Given the description of an element on the screen output the (x, y) to click on. 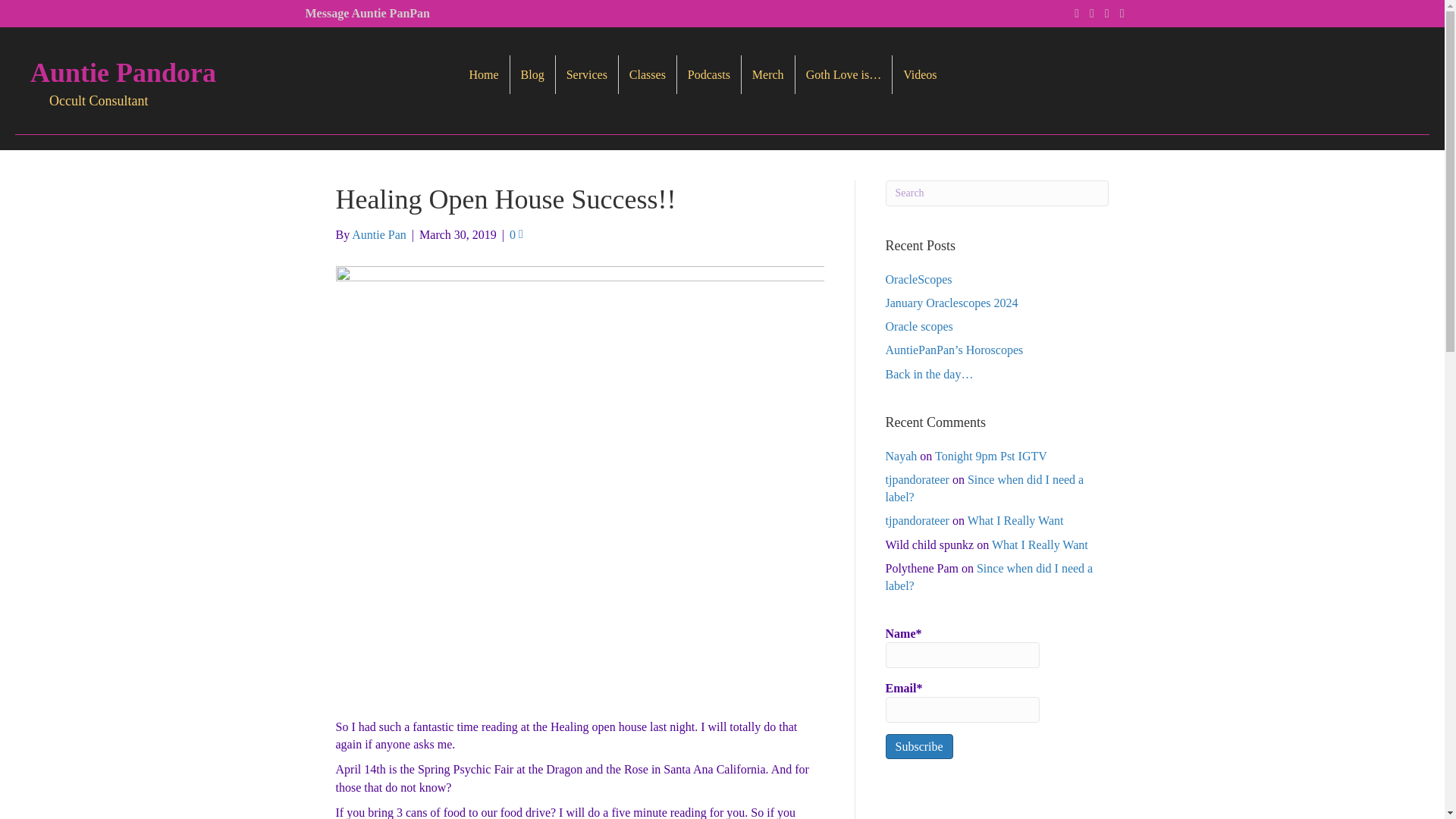
Auntie Pandora (122, 72)
Services (586, 74)
0 (515, 234)
Auntie Pan (379, 234)
Classes (647, 74)
Podcasts (709, 74)
Home (483, 74)
Blog (532, 74)
Subscribe (919, 746)
Auntie Pandora (122, 72)
